Given the description of an element on the screen output the (x, y) to click on. 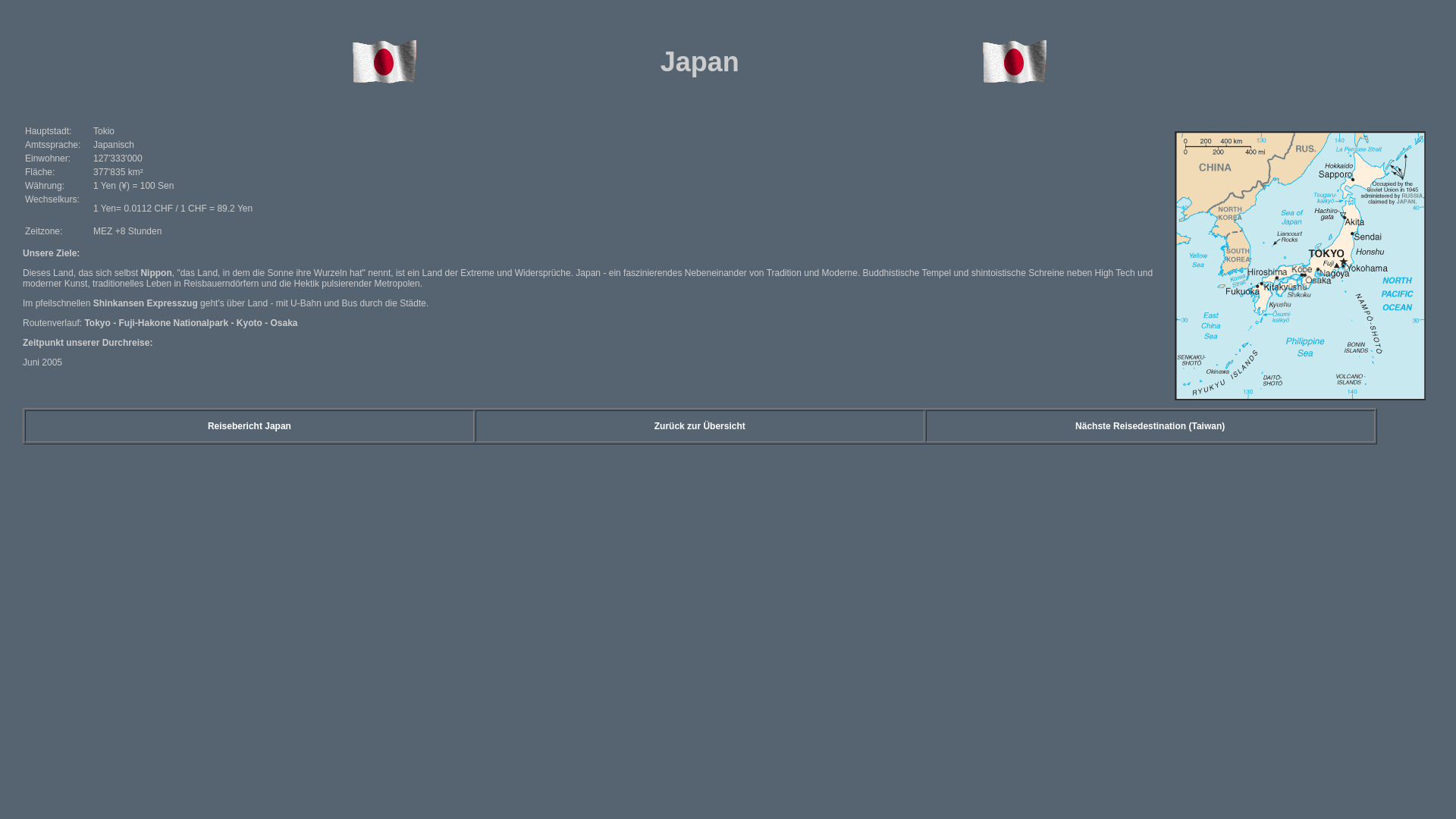
Reisebericht Japan Element type: text (249, 425)
